Given the description of an element on the screen output the (x, y) to click on. 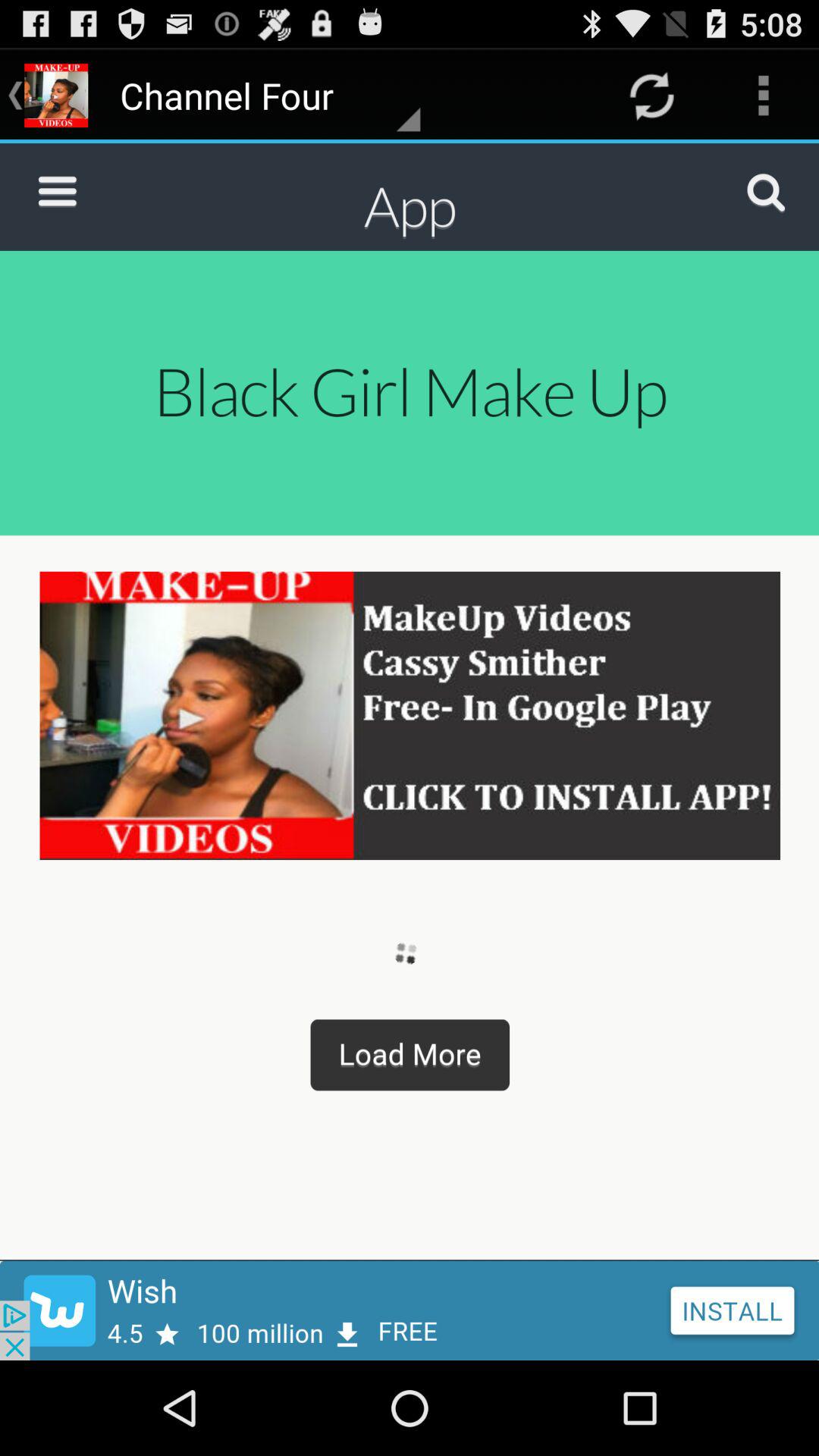
install app (409, 1310)
